Given the description of an element on the screen output the (x, y) to click on. 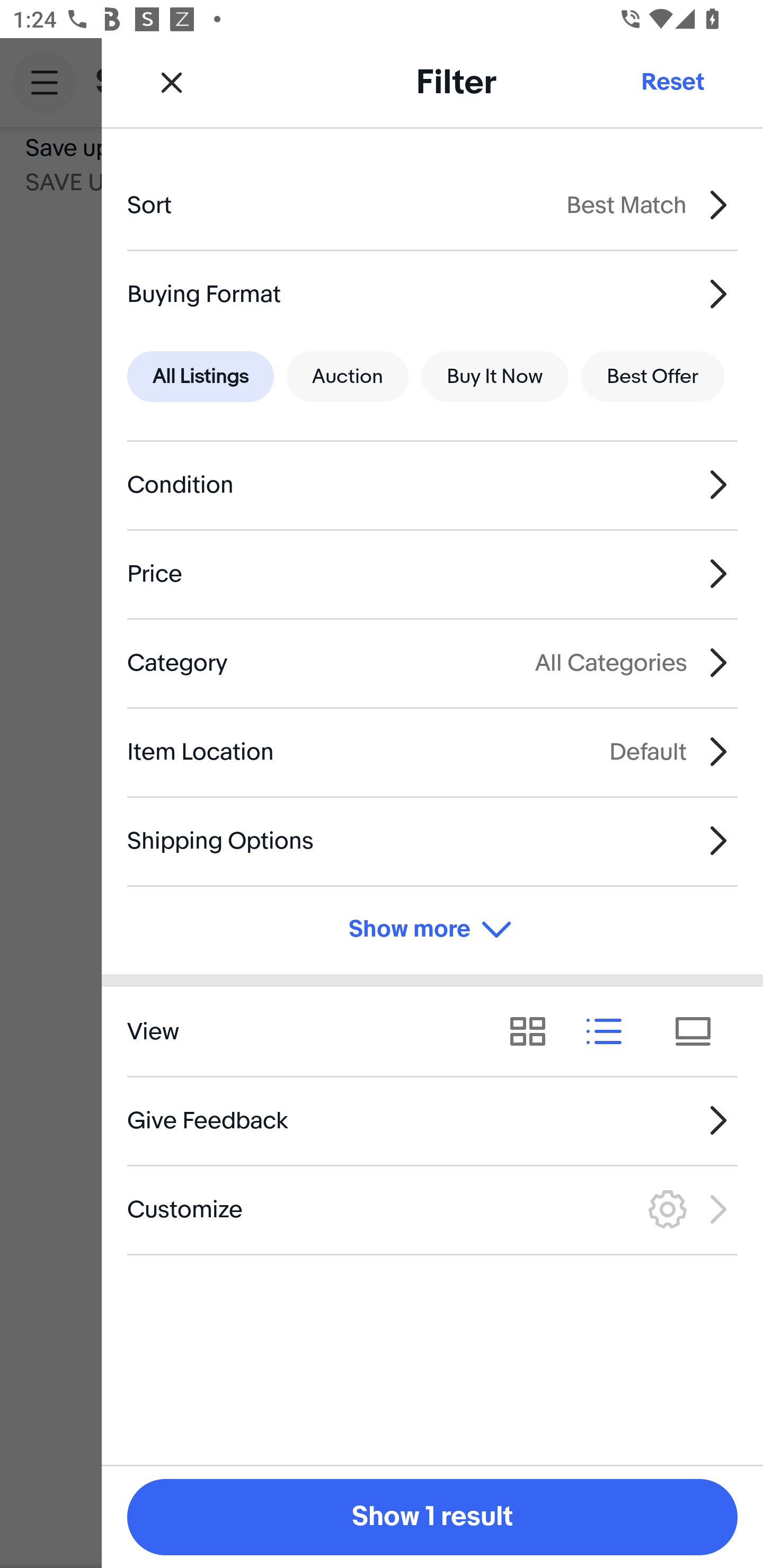
Close Filter (171, 81)
Reset (672, 81)
Buying Format (432, 293)
All Listings (200, 376)
Auction (347, 376)
Buy It Now (494, 376)
Best Offer (652, 376)
Condition (432, 484)
Price (432, 573)
Category All Categories (432, 662)
Item Location Default (432, 751)
Shipping Options (432, 840)
Show more (432, 929)
View results as grid (533, 1030)
View results as list (610, 1030)
View results as tiles (699, 1030)
Customize (432, 1209)
Show 1 result (432, 1516)
